Given the description of an element on the screen output the (x, y) to click on. 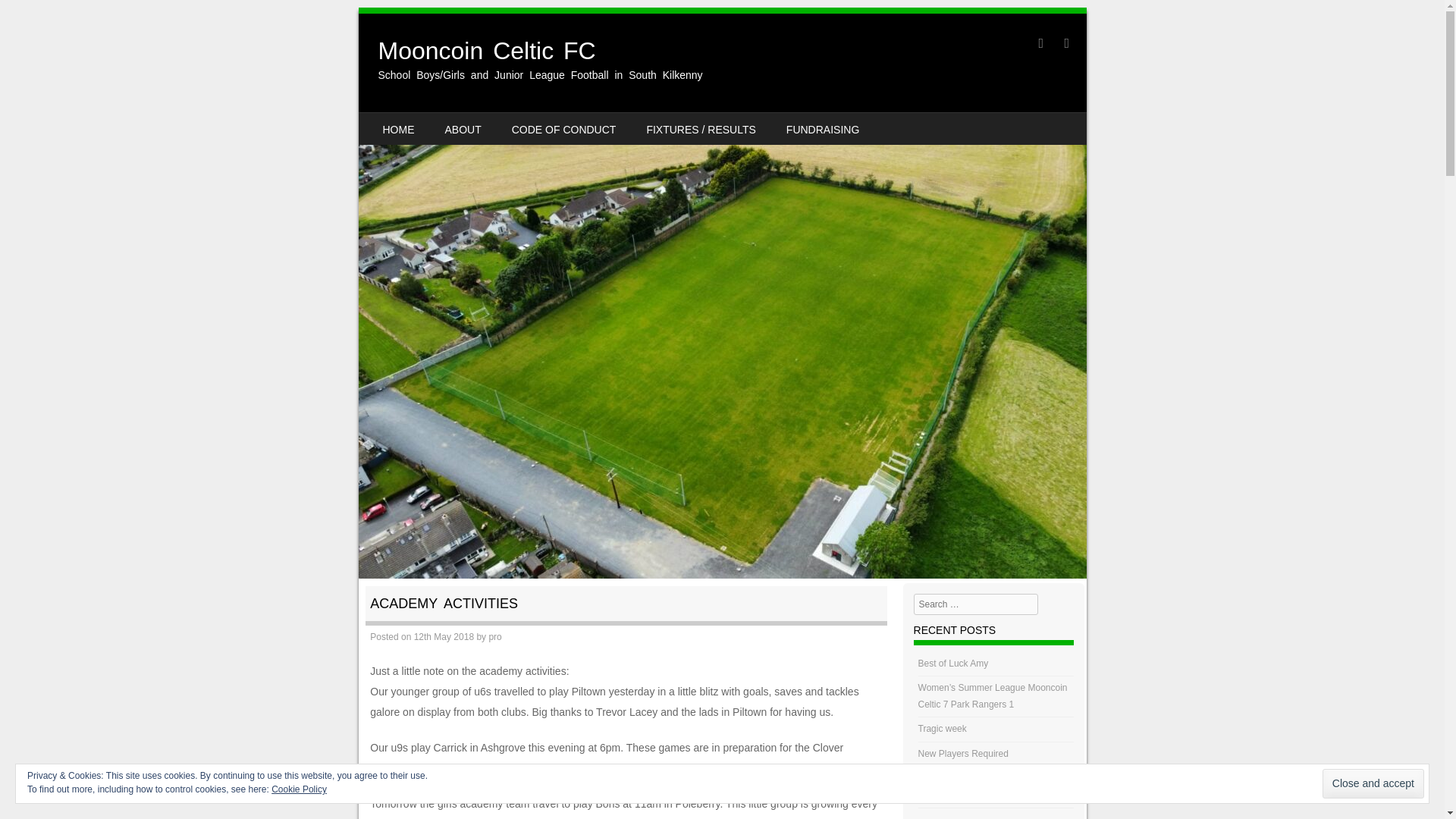
Mooncoin Celtic FC (486, 50)
HOME (397, 128)
Close and accept (1372, 783)
ABOUT (462, 128)
FUNDRAISING (823, 128)
View all posts by pro (493, 636)
New Players Required (963, 753)
Skip to content (405, 122)
pro (493, 636)
10:25 am (443, 636)
12th May 2018 (443, 636)
U12D Cup Final Result Mooncoin Celtic 0 Park Rangers 5 (985, 786)
Tragic week (942, 728)
CODE OF CONDUCT (563, 128)
Mooncoin Celtic FC (486, 50)
